Given the description of an element on the screen output the (x, y) to click on. 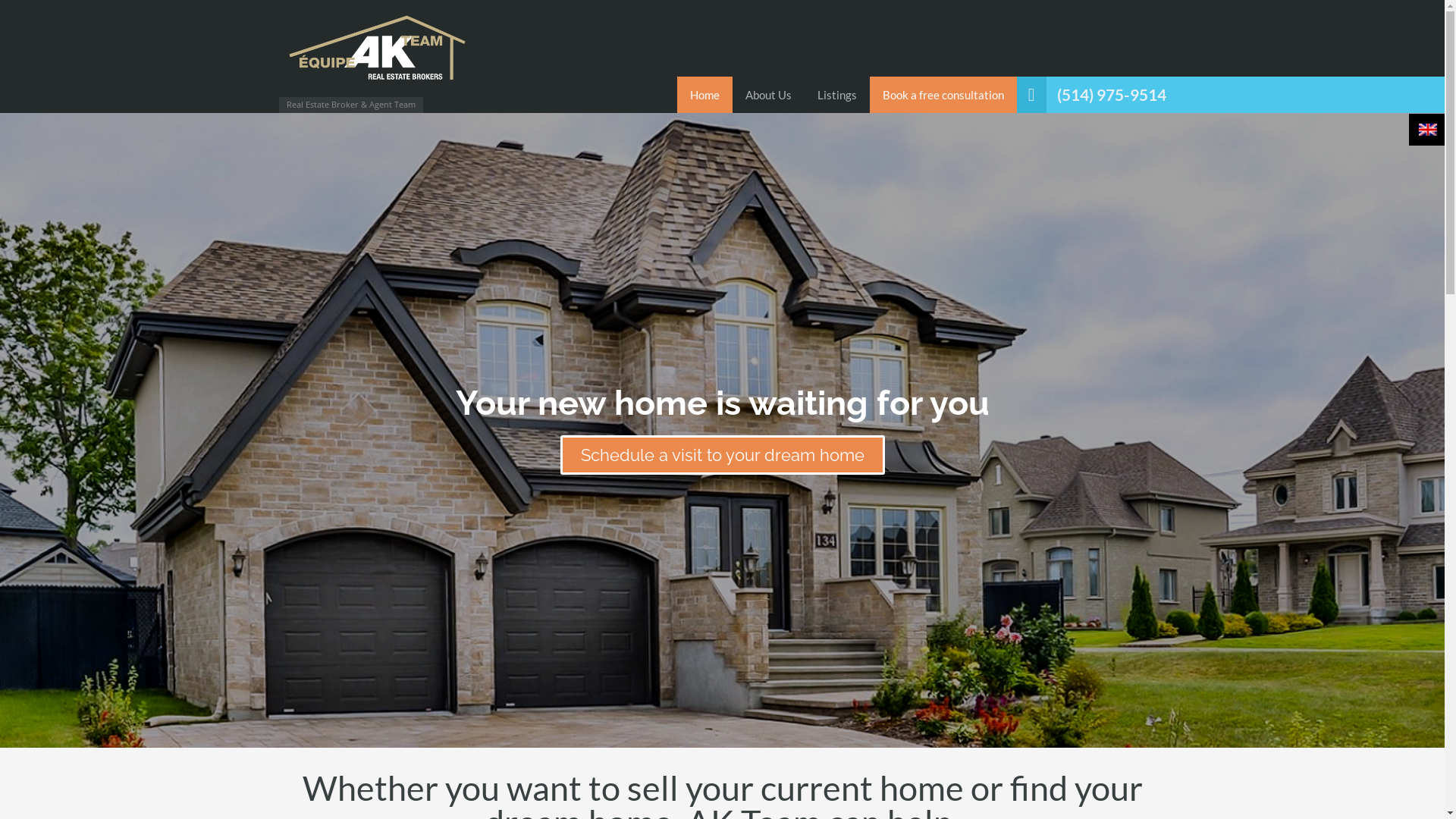
Home Element type: text (704, 94)
Schedule a visit to your dream home Element type: text (721, 454)
Listings Element type: text (836, 94)
About Us Element type: text (768, 94)
Book a free consultation Element type: text (942, 94)
Andrei Krakhmalnikov | AK Team Element type: hover (377, 52)
